Given the description of an element on the screen output the (x, y) to click on. 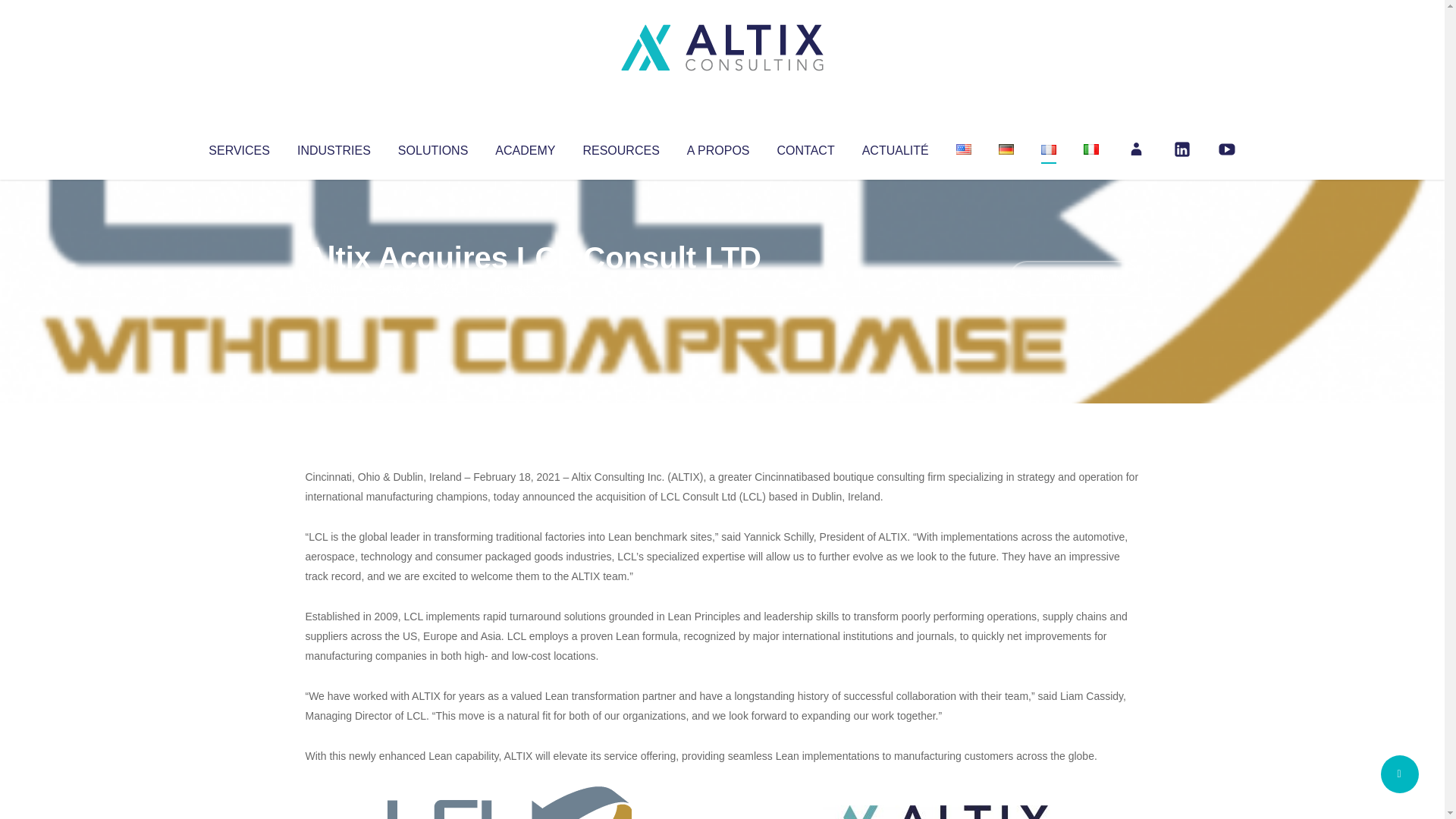
No Comments (1073, 278)
SERVICES (238, 146)
A PROPOS (718, 146)
Articles par Altix (333, 287)
Altix (333, 287)
SOLUTIONS (432, 146)
INDUSTRIES (334, 146)
RESOURCES (620, 146)
Uncategorized (530, 287)
ACADEMY (524, 146)
